Given the description of an element on the screen output the (x, y) to click on. 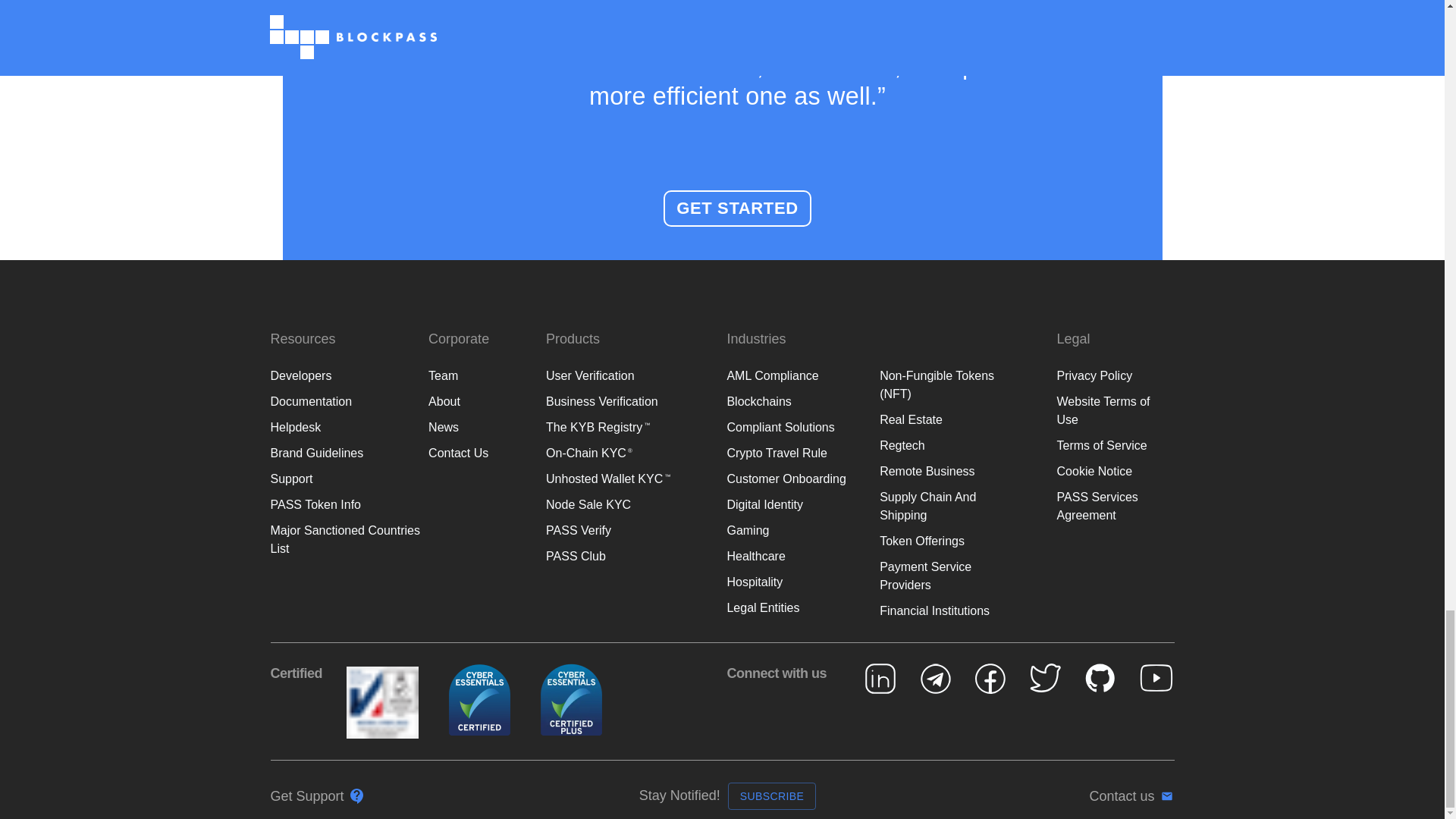
Major Sanctioned Countries List (344, 490)
Team (443, 327)
GET STARTED (736, 160)
Helpdesk (294, 379)
Brand Guidelines (315, 404)
PASS Token Info (314, 456)
Documentation (310, 353)
About (444, 353)
User Verification (590, 327)
Developers (300, 327)
